Given the description of an element on the screen output the (x, y) to click on. 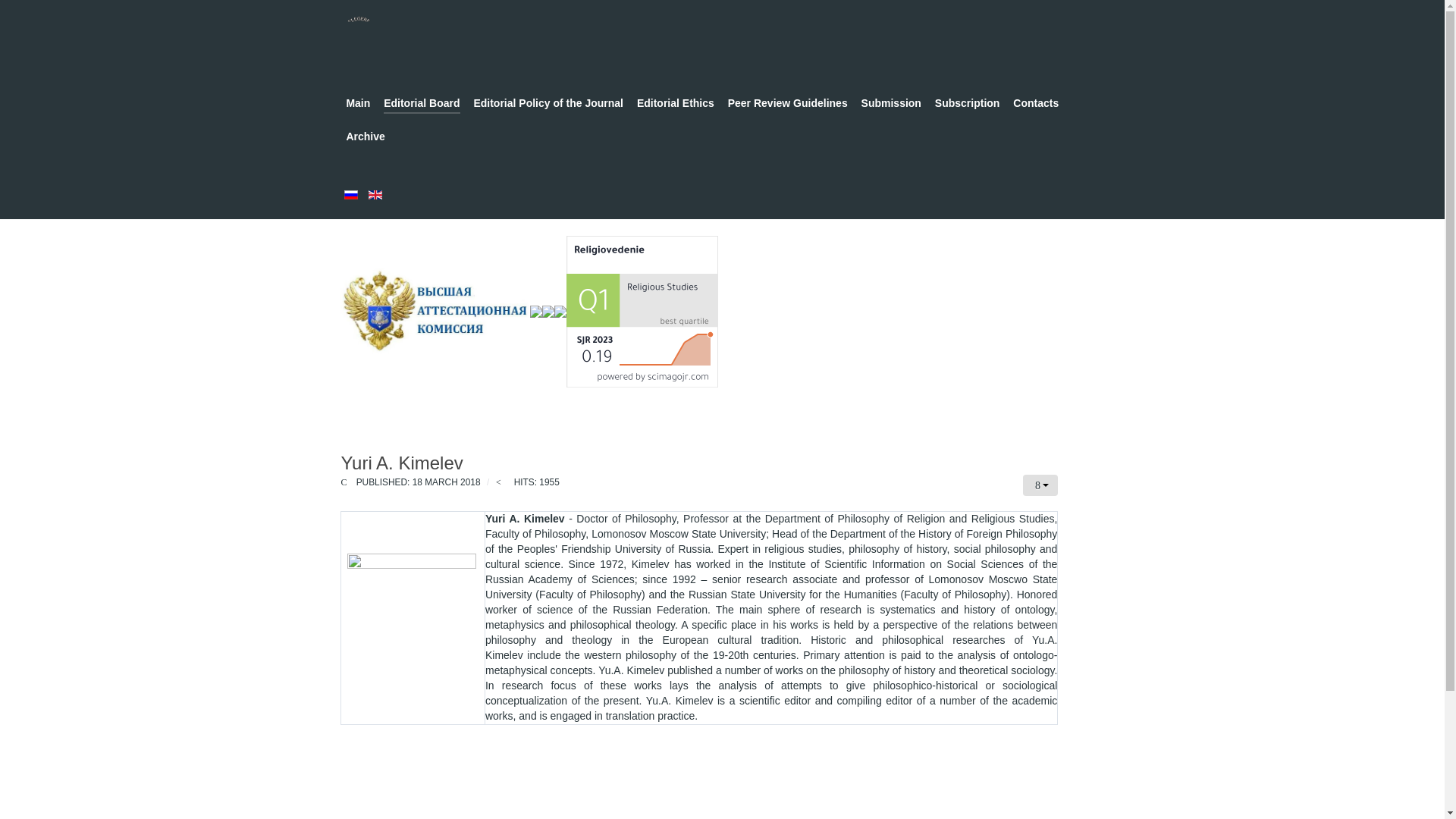
Subscription (967, 104)
Contacts (1035, 104)
Editorial Board (422, 104)
Submission (891, 104)
Main (357, 104)
Editorial Ethics (675, 104)
Archive (365, 137)
Editorial Policy of the Journal (548, 104)
Peer Review Guidelines (787, 104)
